Given the description of an element on the screen output the (x, y) to click on. 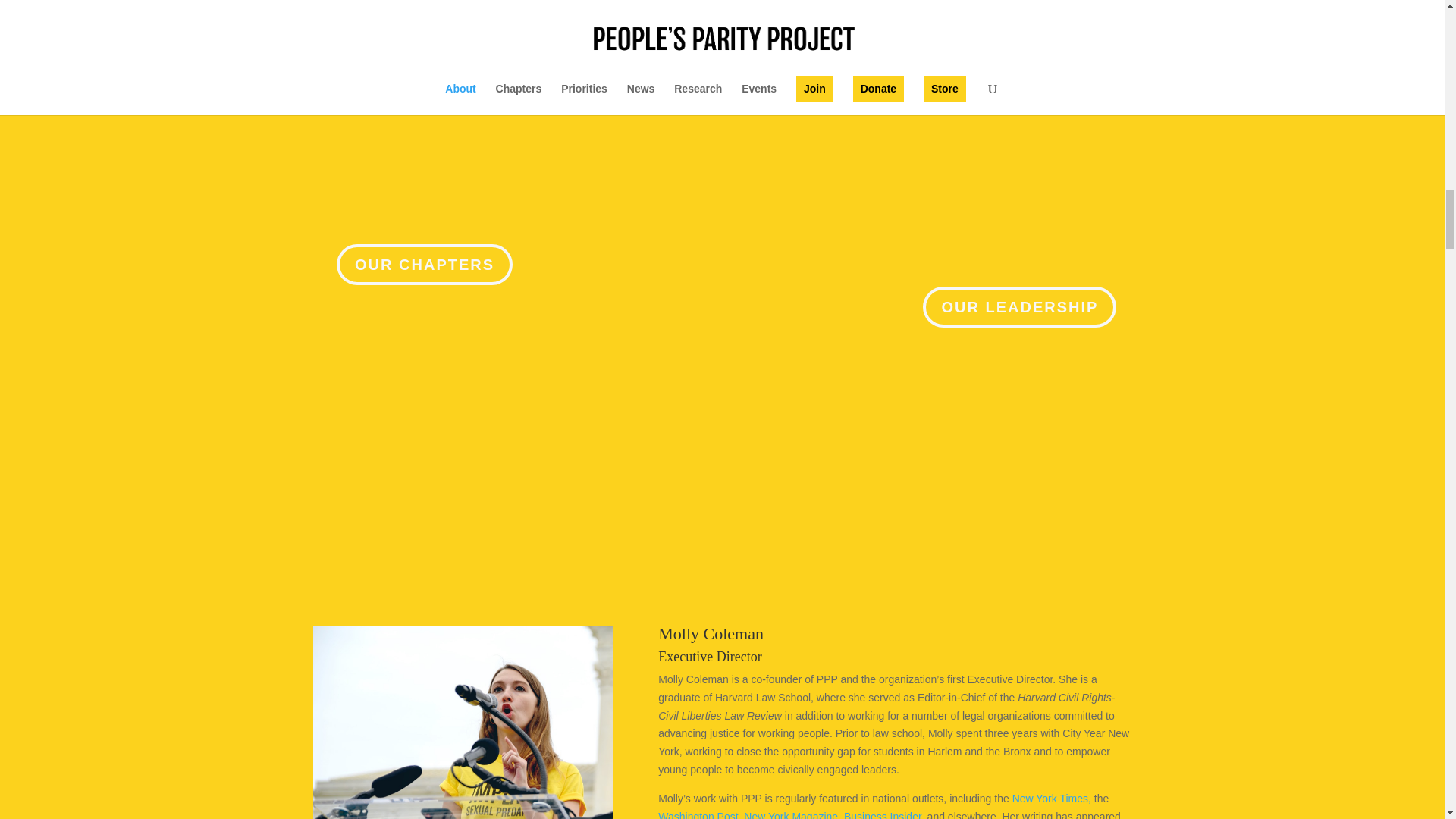
Business Insider (882, 814)
New York Times, (1052, 798)
Molly at Reclaim (462, 722)
OUR LEADERSHIP (1019, 306)
New York Magazine (791, 814)
OUR CHAPTERS (424, 264)
Washington Post (698, 814)
